Given the description of an element on the screen output the (x, y) to click on. 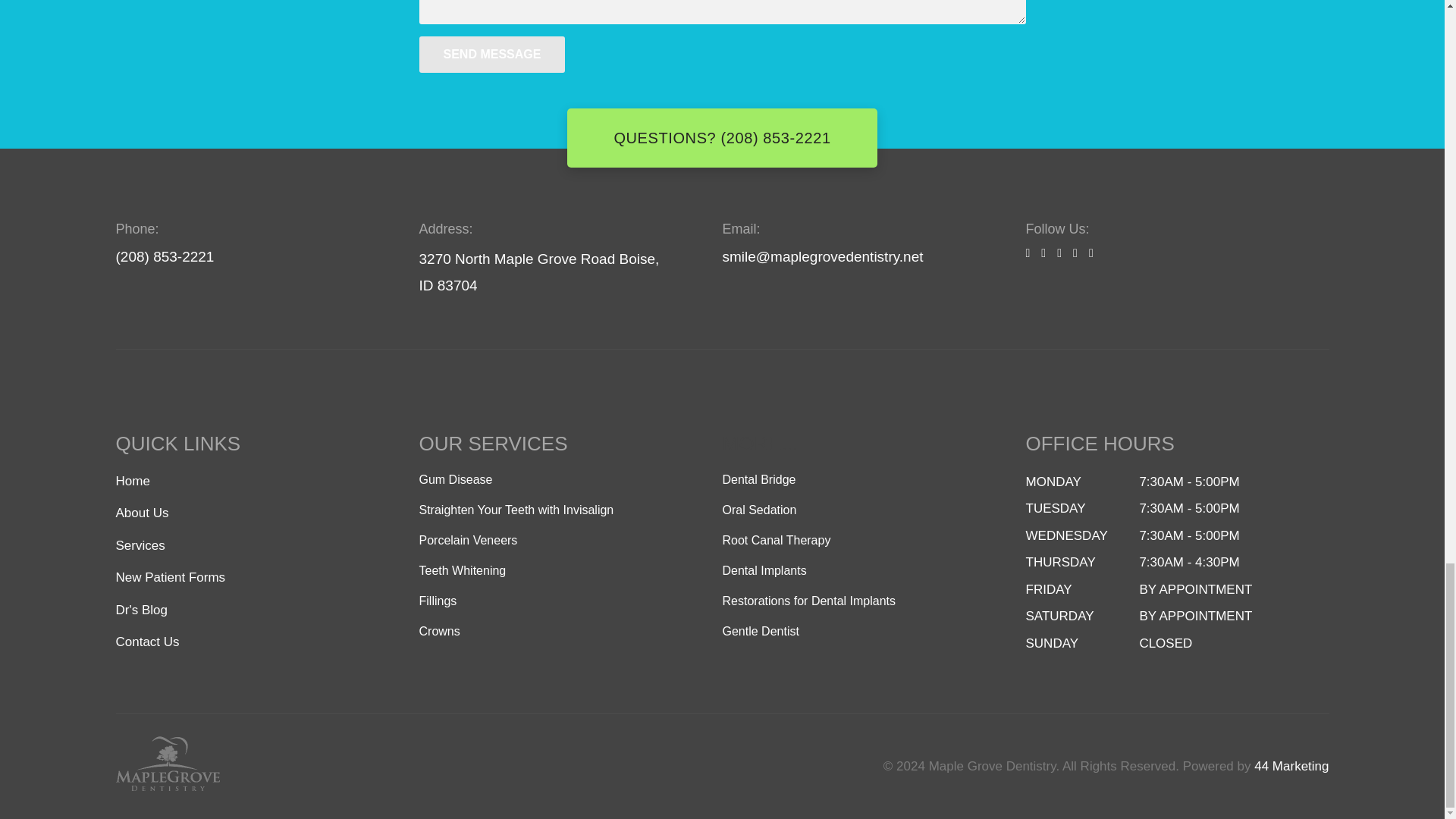
Send message (491, 54)
Maple Grove Dentistry (219, 763)
Maple Grove Dentistry (211, 799)
